Given the description of an element on the screen output the (x, y) to click on. 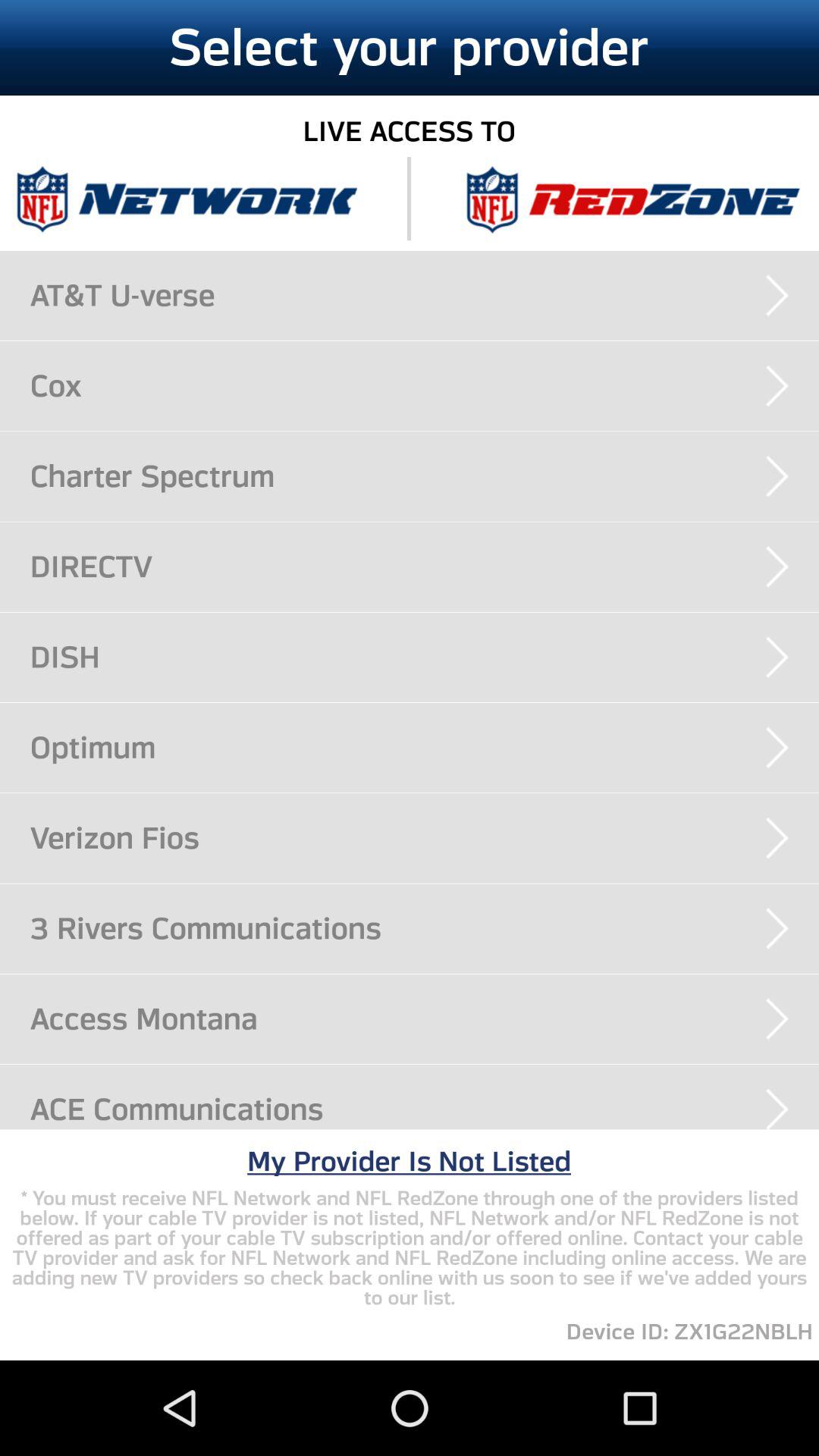
launch charter spectrum icon (424, 476)
